Given the description of an element on the screen output the (x, y) to click on. 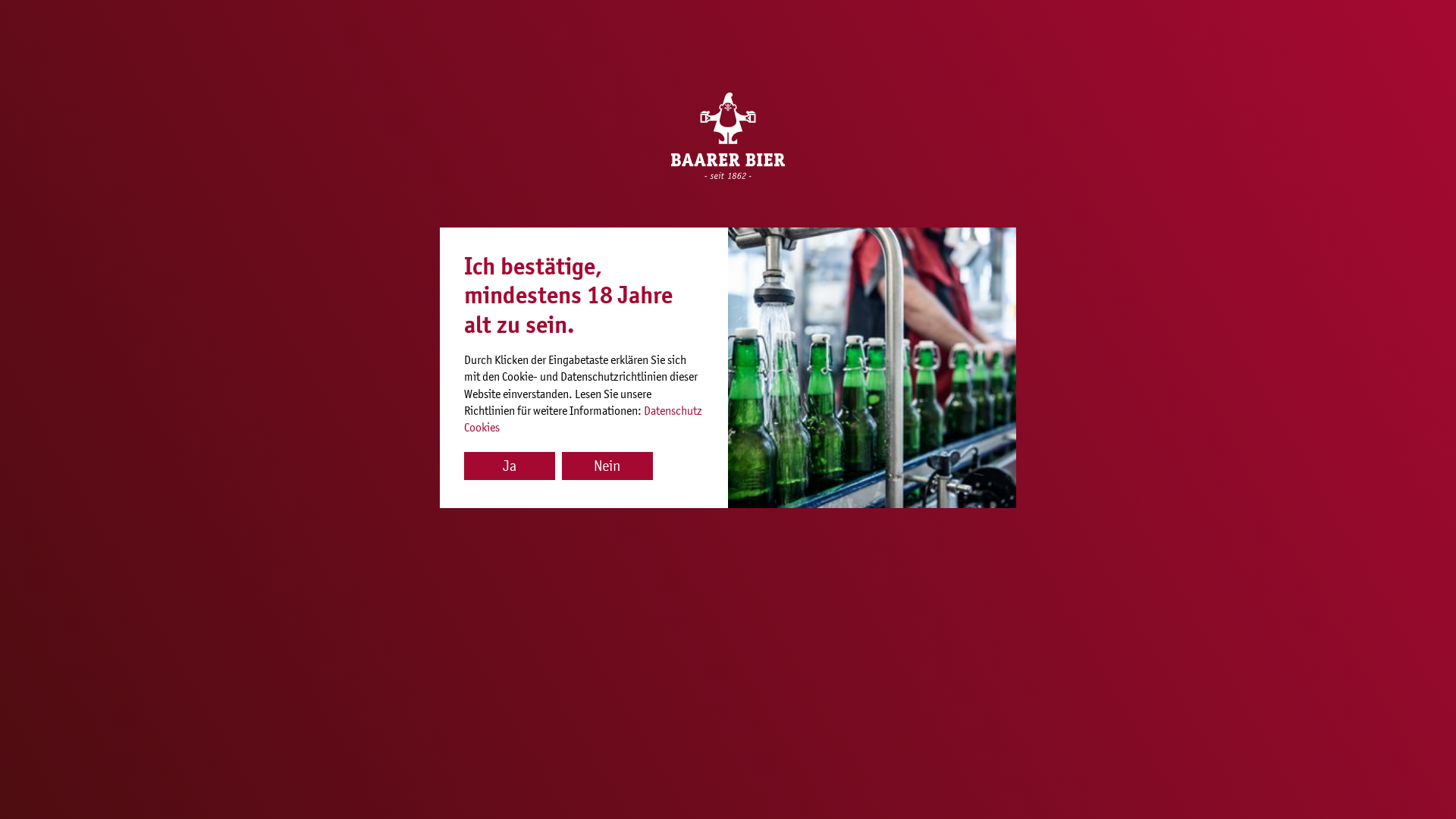
Nein Element type: text (606, 465)
Ja Element type: text (509, 465)
Datenschutz Cookies Element type: text (583, 418)
Nein Element type: text (608, 465)
Ja Element type: text (511, 465)
